Given the description of an element on the screen output the (x, y) to click on. 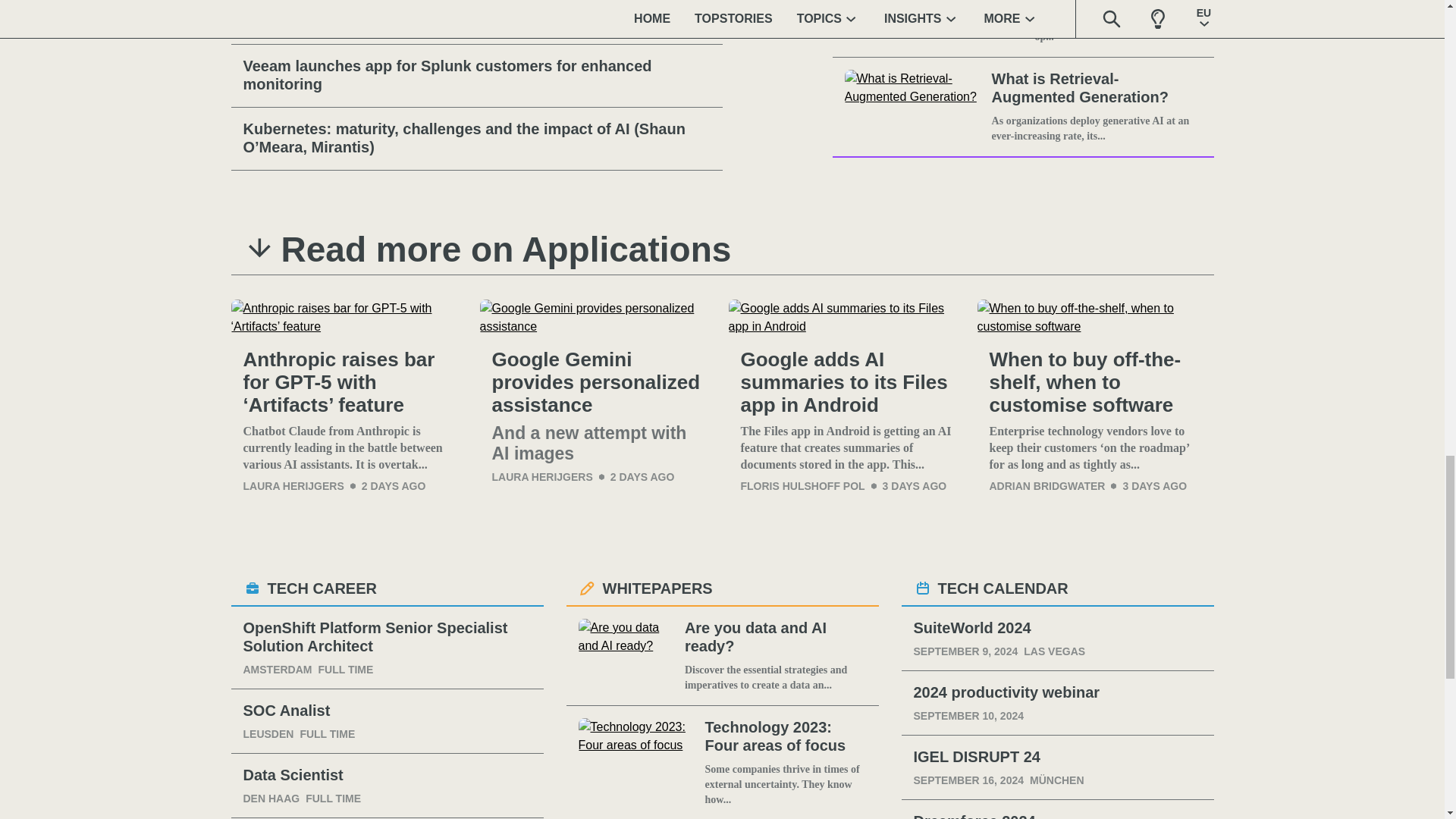
What is Retrieval-Augmented Generation? (914, 106)
What is Retrieval-Augmented Generation? (1096, 88)
Google Gemini provides personalized assistance (597, 382)
Google Gemini provides personalized assistance (597, 317)
